Given the description of an element on the screen output the (x, y) to click on. 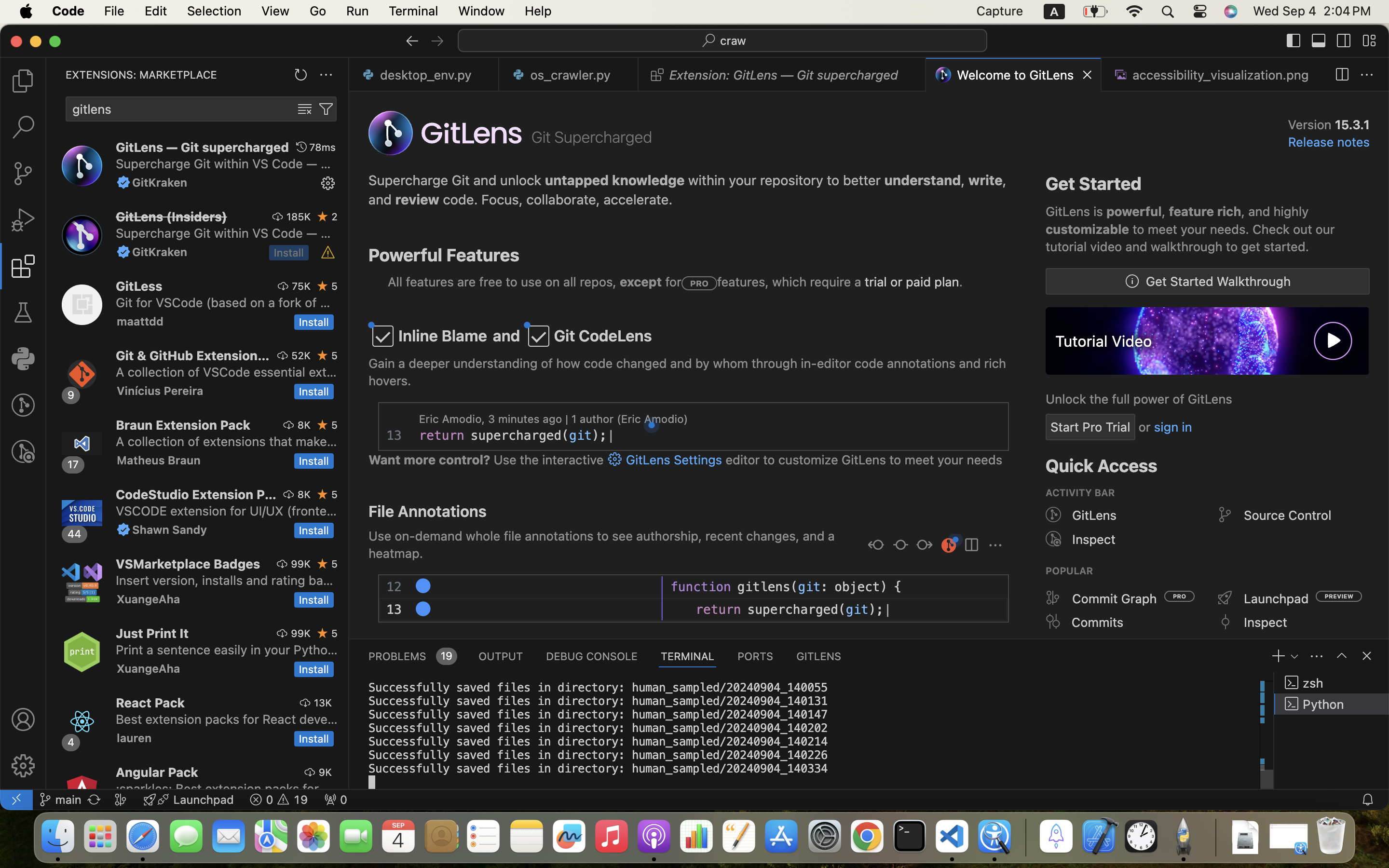
13K Element type: AXStaticText (322, 702)
 Element type: AXStaticText (995, 545)
 Element type: AXStaticText (900, 545)
 Element type: AXStaticText (325, 108)
 Element type: AXButton (412, 40)
